Given the description of an element on the screen output the (x, y) to click on. 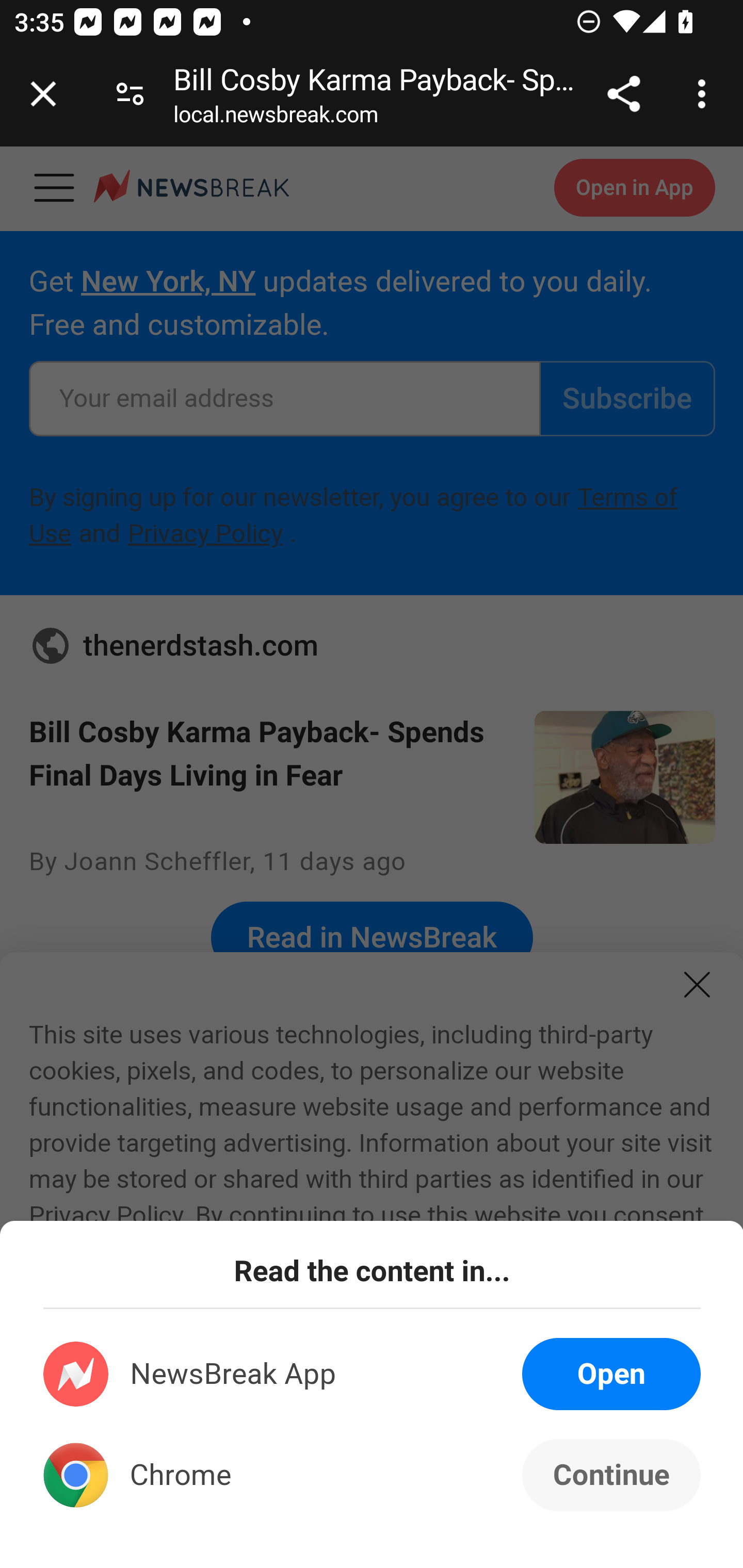
Close tab (43, 93)
Share link address (623, 93)
Customize and control Google Chrome (705, 93)
Connection is secure (129, 93)
local.newsbreak.com (275, 117)
Download App NewsBreak App NewsBreak App Open (372, 1374)
Open (611, 1374)
Accept Cookies (231, 1458)
Continue (611, 1475)
